Given the description of an element on the screen output the (x, y) to click on. 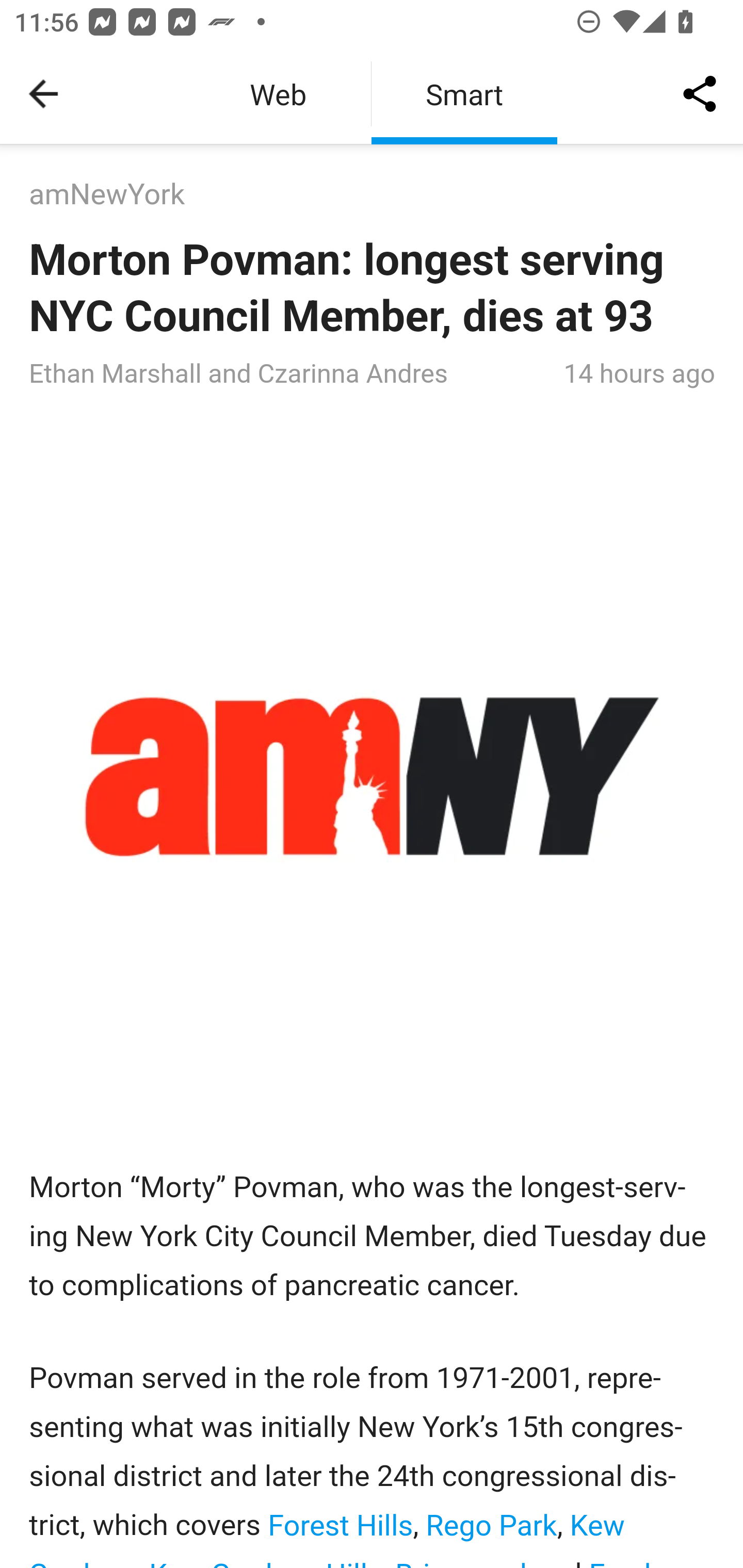
Web (277, 93)
Smart (464, 93)
amNewYork (106, 195)
 Forest Hills (336, 1525)
 Rego Park (486, 1525)
